Given the description of an element on the screen output the (x, y) to click on. 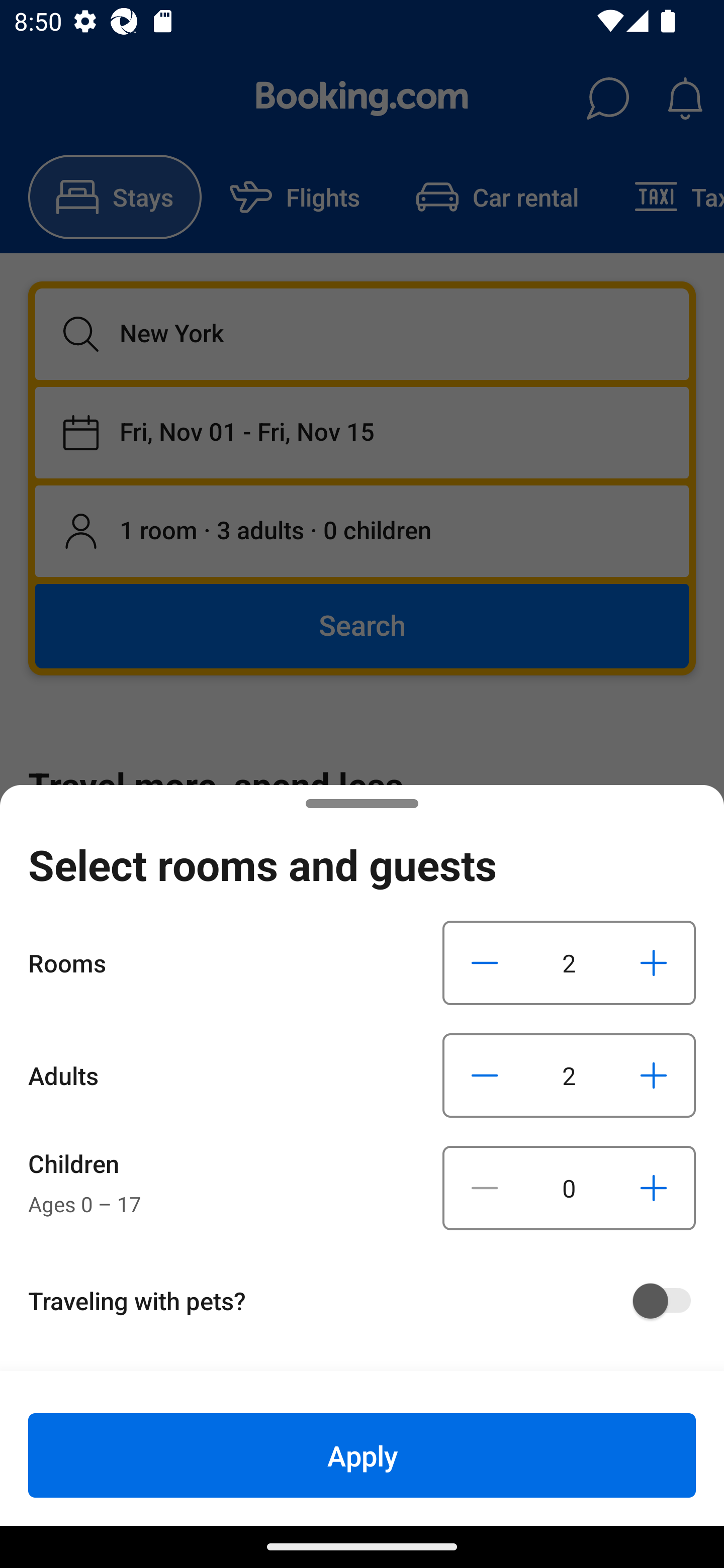
Decrease (484, 962)
Increase (653, 962)
Decrease (484, 1075)
Increase (653, 1075)
Decrease (484, 1188)
Increase (653, 1188)
Traveling with pets? (369, 1300)
Apply (361, 1454)
